Given the description of an element on the screen output the (x, y) to click on. 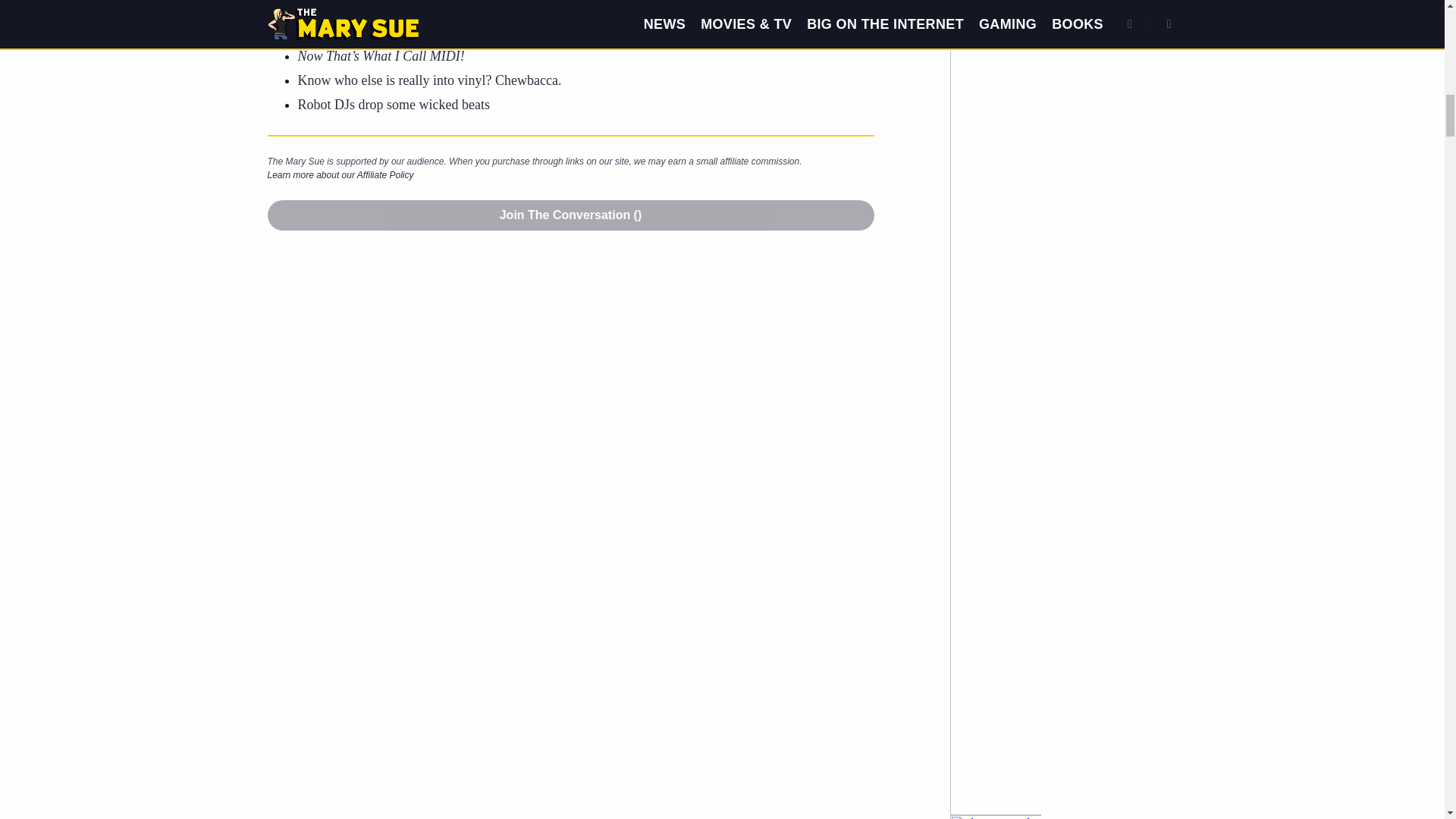
Chewbacca Digs Vinyl (428, 79)
Fringe Secrets Await You on Vinyl (408, 7)
